Given the description of an element on the screen output the (x, y) to click on. 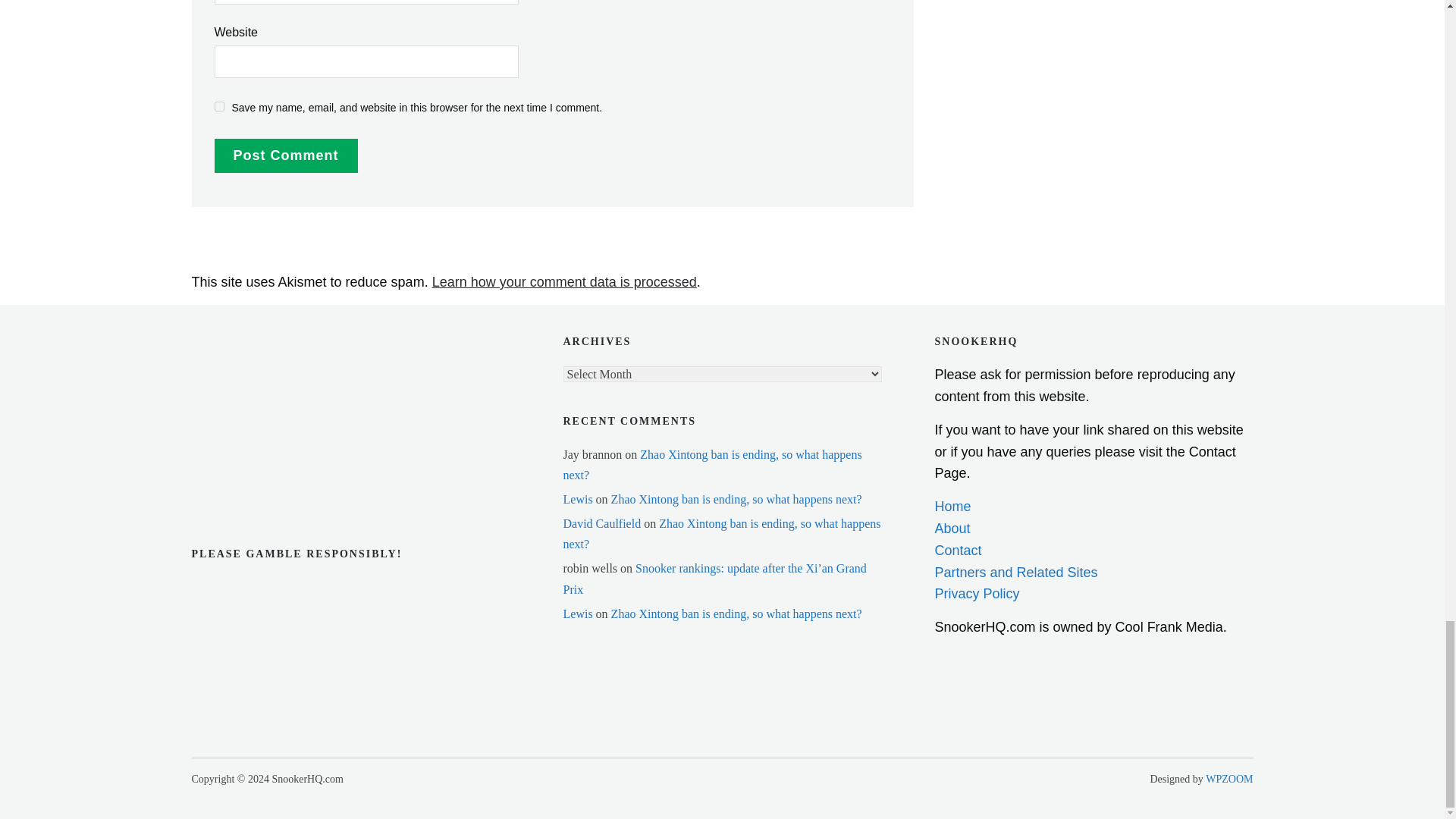
nongamstopbets-sports-betting (266, 390)
ngc-uk-betting-sites-not-on-gamstop (266, 345)
non-gamstop-betting-sites (266, 436)
Post Comment (285, 155)
yes (219, 106)
